Given the description of an element on the screen output the (x, y) to click on. 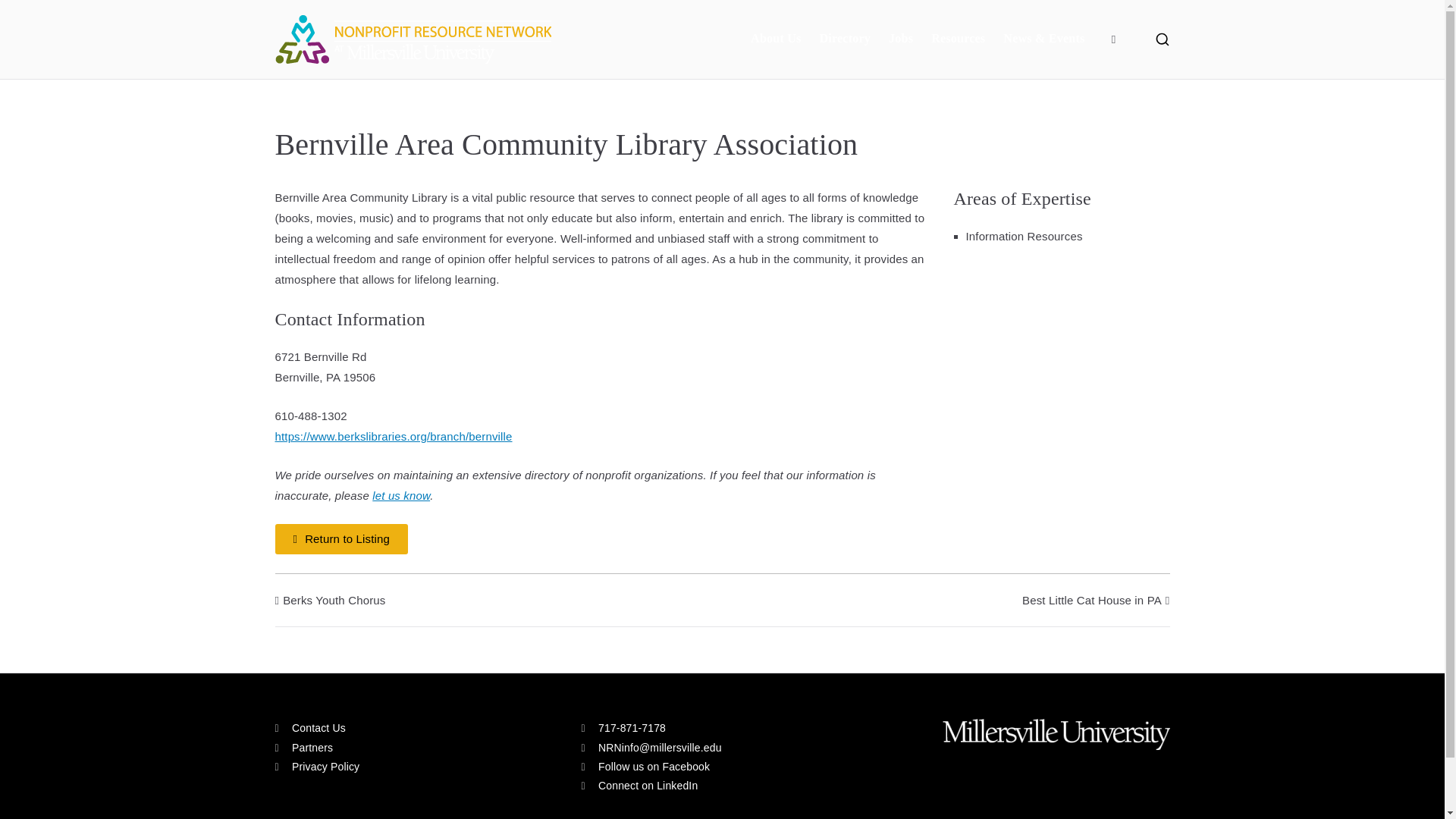
About Us (775, 38)
let us know (400, 495)
Partners (415, 747)
Contact Us (415, 728)
Follow us on Facebook (645, 766)
Best Little Cat House in PA (1096, 599)
Nonprofit Resource Network (650, 49)
Berks Youth Chorus (330, 599)
Connect on LinkedIn (638, 785)
Search (25, 12)
